Given the description of an element on the screen output the (x, y) to click on. 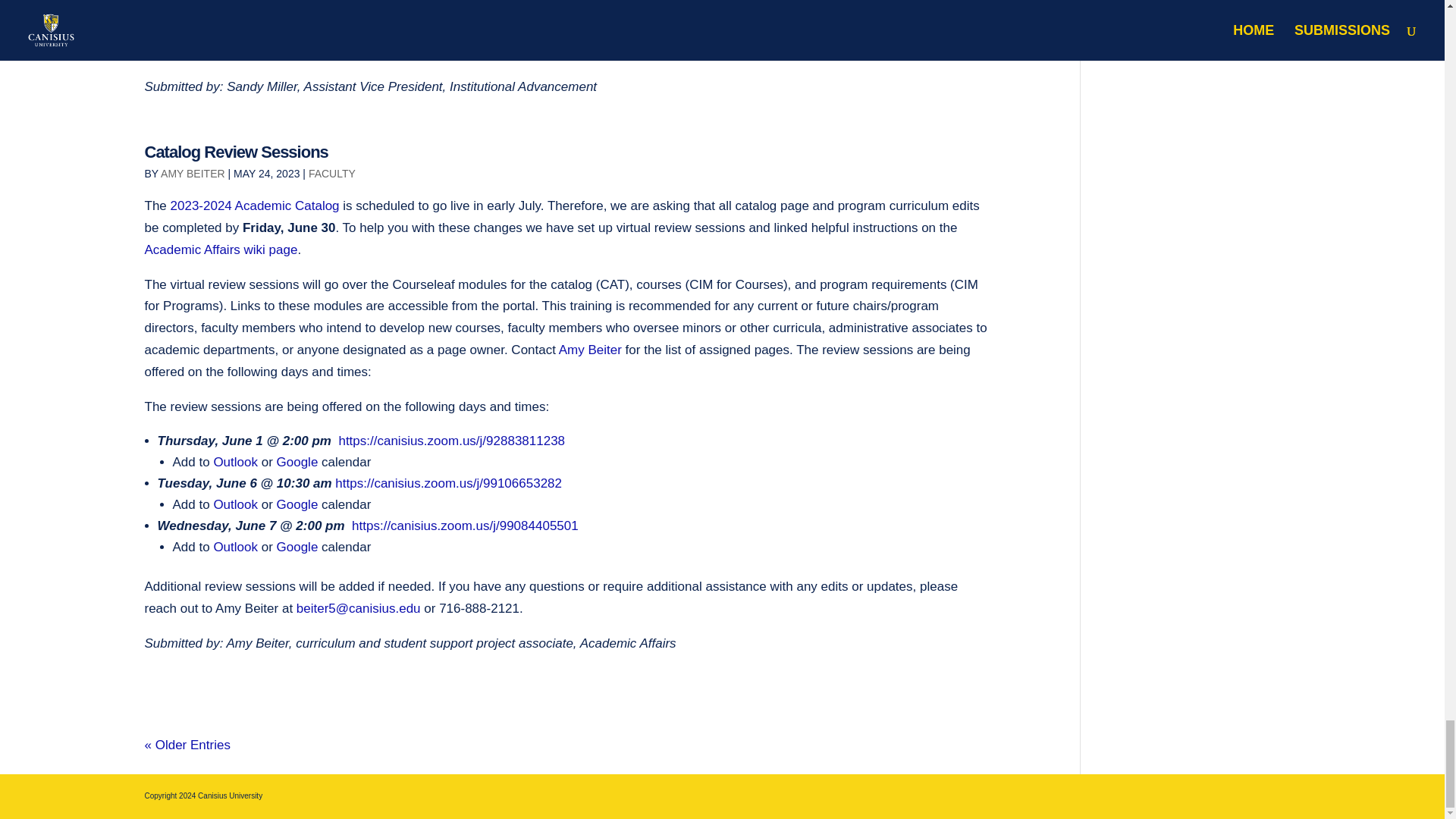
Posts by Amy Beiter (192, 173)
Academic Affairs wiki page (220, 249)
2023-2024 Academic Catalog (254, 205)
AMY BEITER (192, 173)
Amy Beiter  (592, 350)
FACULTY (331, 173)
Outlook (234, 462)
Catalog Review Sessions (235, 151)
